Given the description of an element on the screen output the (x, y) to click on. 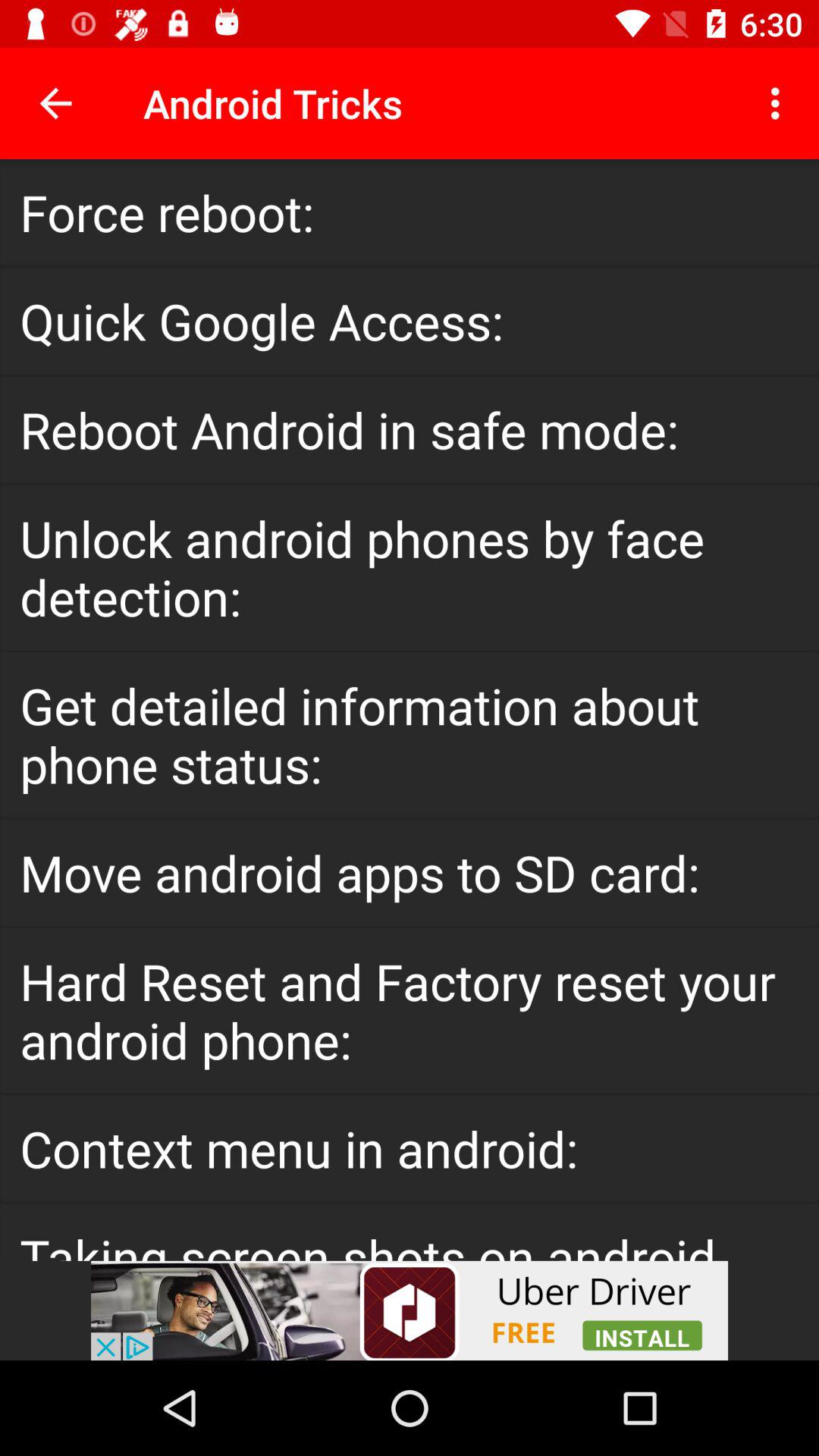
launch advertisement (409, 1310)
